Given the description of an element on the screen output the (x, y) to click on. 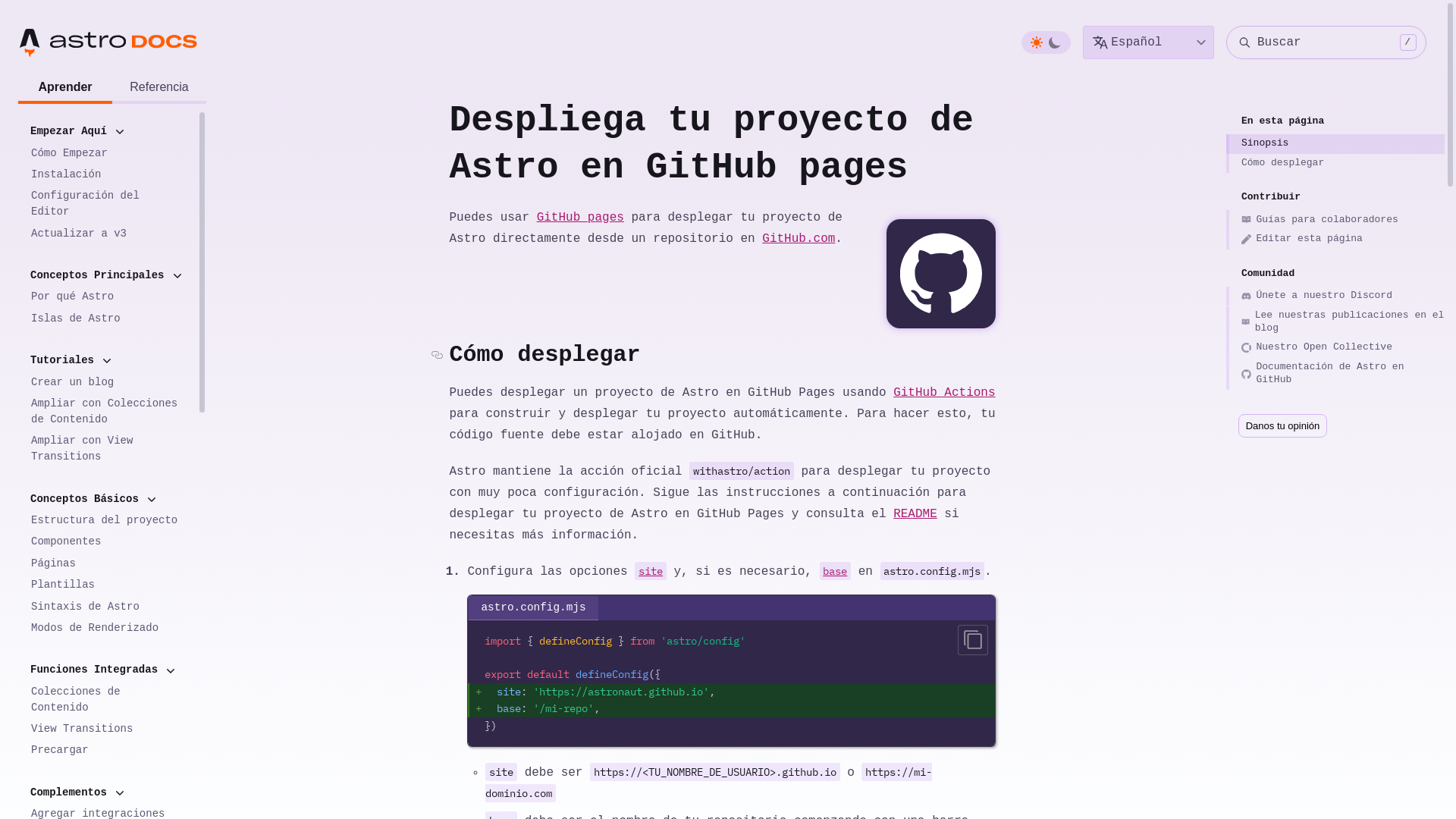
Usar tema claro Element type: hover (1036, 42)
README Element type: text (915, 513)
GitHub pages Element type: text (580, 217)
Plantillas Element type: text (106, 584)
Referencia Element type: text (159, 87)
View Transitions Element type: text (106, 728)
Copiar al portapapeles Element type: hover (972, 639)
Crear un blog Element type: text (106, 381)
GitHub Actions Element type: text (943, 392)
Ampliar con Colecciones de Contenido Element type: text (106, 411)
Usar tema oscuro Element type: hover (1054, 42)
Modos de Renderizado Element type: text (106, 628)
Colecciones de Contenido Element type: text (106, 698)
Lee nuestras publicaciones en el blog Element type: text (1335, 322)
Estructura del proyecto Element type: text (106, 520)
GitHub.com Element type: text (798, 238)
Astro Element type: text (71, 42)
Ampliar con View Transitions Element type: text (106, 448)
base Element type: text (835, 571)
Sinopsis Element type: text (1335, 143)
Componentes Element type: text (106, 541)
Buscar
(Presiona / para buscar)
/ Element type: text (1326, 42)
Docs Element type: text (165, 42)
site Element type: text (650, 571)
Islas de Astro Element type: text (106, 318)
Aprender Element type: text (65, 87)
Sintaxis de Astro Element type: text (106, 606)
Precargar Element type: text (106, 750)
Nuestro Open Collective Element type: text (1335, 347)
Actualizar a v3 Element type: text (106, 232)
